Given the description of an element on the screen output the (x, y) to click on. 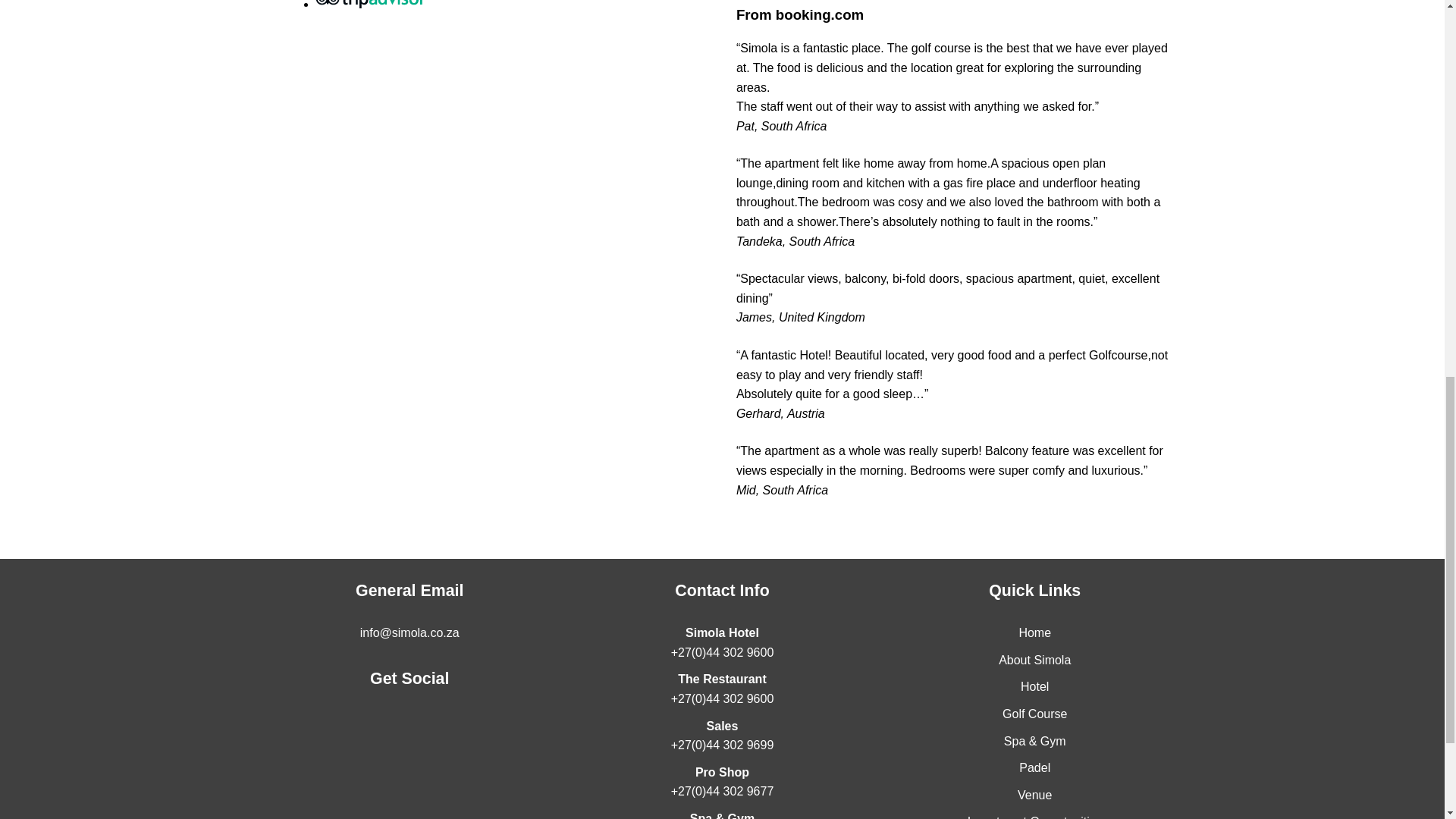
Simola Hotel on instagram (429, 730)
Simola Hotel on tripadvisor (471, 730)
Simola Hotel on linkedin (347, 730)
Simola Hotel on facebook (388, 730)
